Given the description of an element on the screen output the (x, y) to click on. 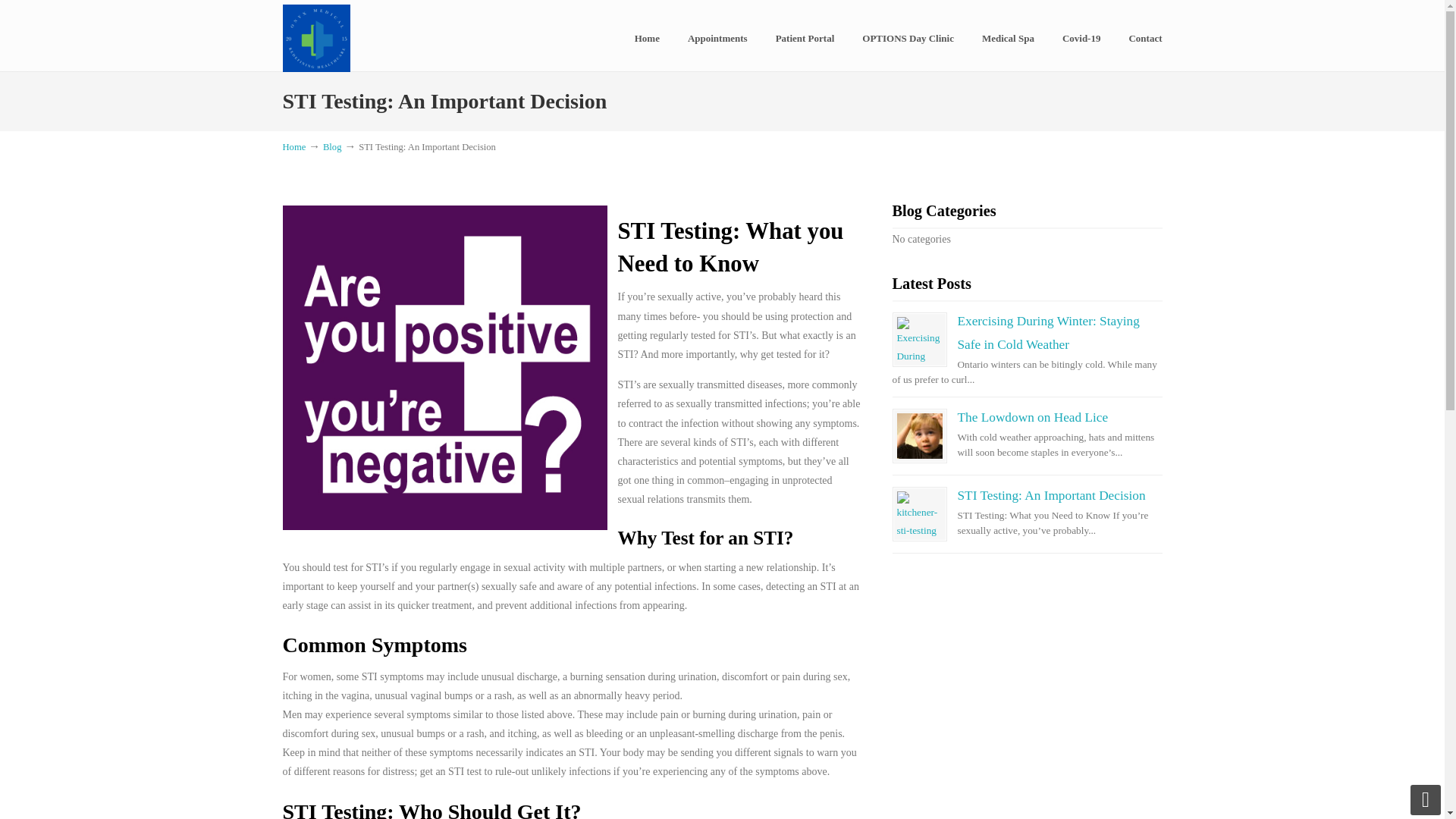
Patient Portal (805, 38)
The Lowdown on Head Lice (919, 435)
Onyx Urgent Care (315, 38)
Onyx Urgent Care (315, 38)
Covid-19 (1081, 38)
Home (293, 146)
Exercising During Winter: Staying Safe in Cold Weather (919, 339)
Contact (1144, 38)
Exercising During Winter: Staying Safe in Cold Weather (1047, 332)
OPTIONS Day Clinic (908, 38)
The Lowdown on Head Lice (1032, 417)
Medical Spa (1007, 38)
Blog (332, 146)
STI Testing: An Important Decision (919, 514)
Home (647, 38)
